Given the description of an element on the screen output the (x, y) to click on. 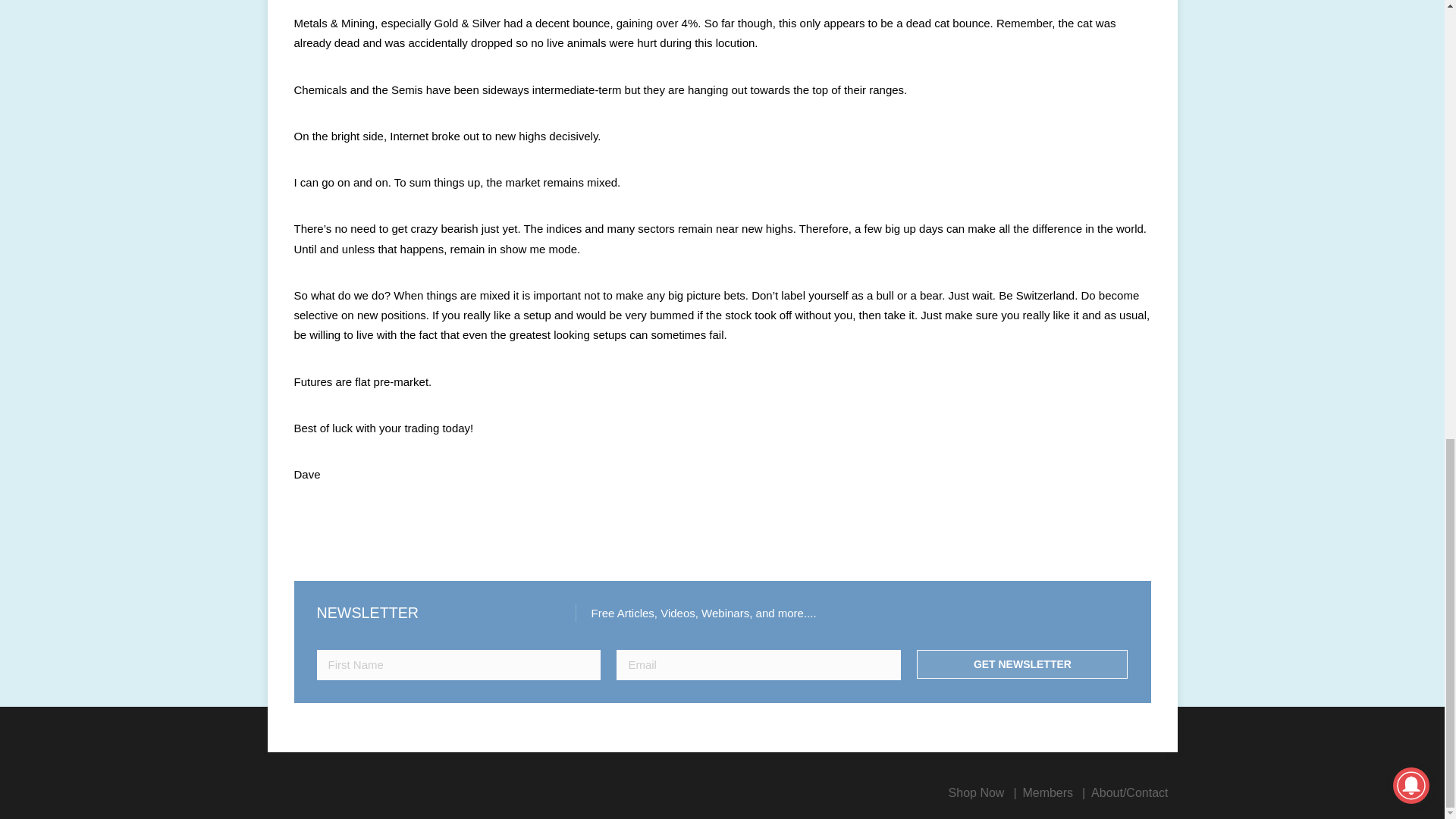
Get Newsletter (1021, 663)
Shop Now (976, 792)
Members (1047, 792)
Get Newsletter (1021, 663)
